Given the description of an element on the screen output the (x, y) to click on. 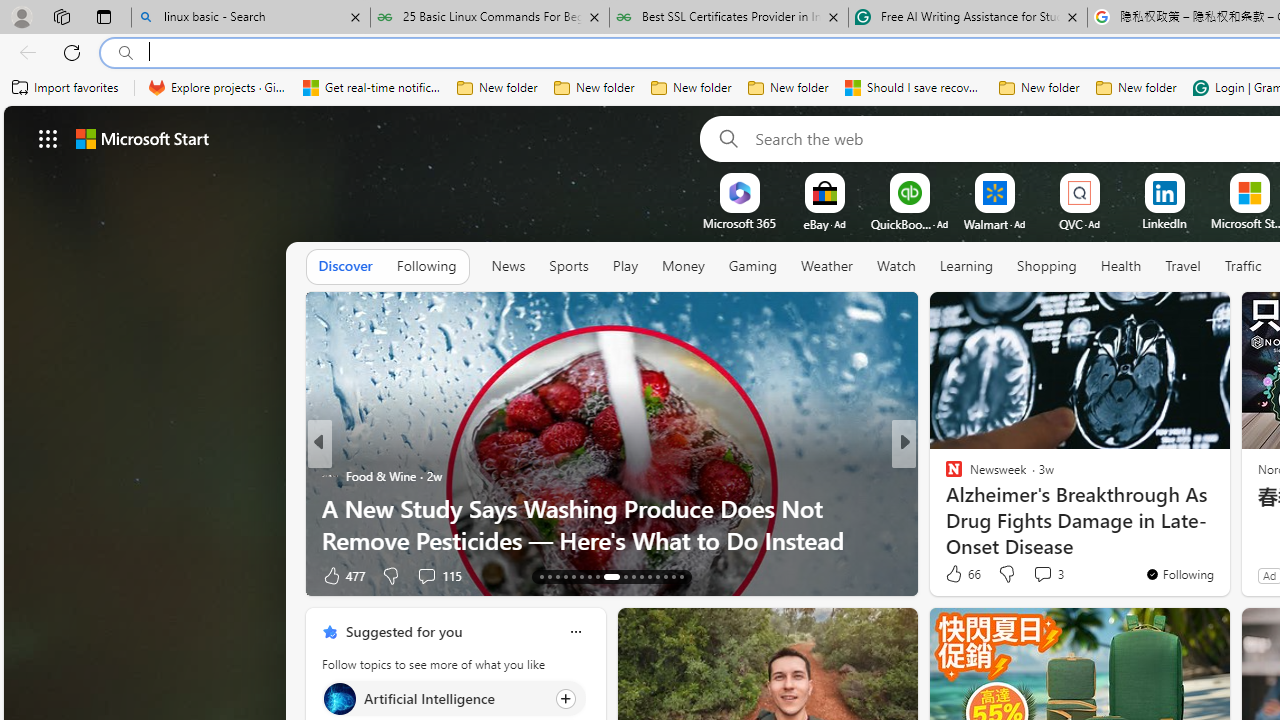
Class: control (47, 138)
AutomationID: tab-27 (664, 576)
View comments 3 Comment (1042, 573)
AutomationID: tab-23 (632, 576)
107 Like (959, 574)
AutomationID: tab-21 (607, 576)
Weather (826, 265)
Learning (965, 265)
PC World (944, 475)
